Given the description of an element on the screen output the (x, y) to click on. 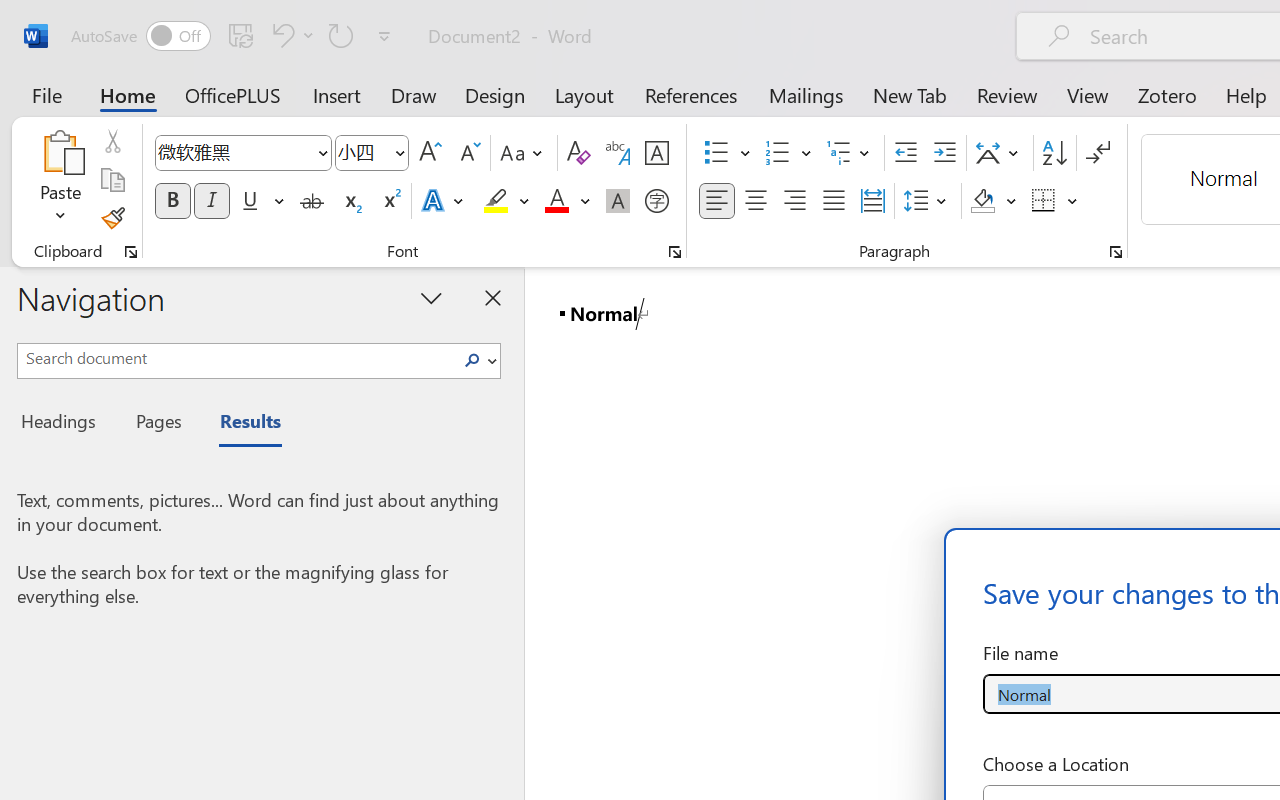
AutoSave (140, 35)
Decrease Indent (906, 153)
Text Effects and Typography (444, 201)
Borders (1055, 201)
Font (234, 152)
Strikethrough (312, 201)
Bullets (716, 153)
Text Highlight Color (506, 201)
Line and Paragraph Spacing (927, 201)
Save (241, 35)
Enclose Characters... (656, 201)
Show/Hide Editing Marks (1098, 153)
Pages (156, 424)
Justify (834, 201)
